Given the description of an element on the screen output the (x, y) to click on. 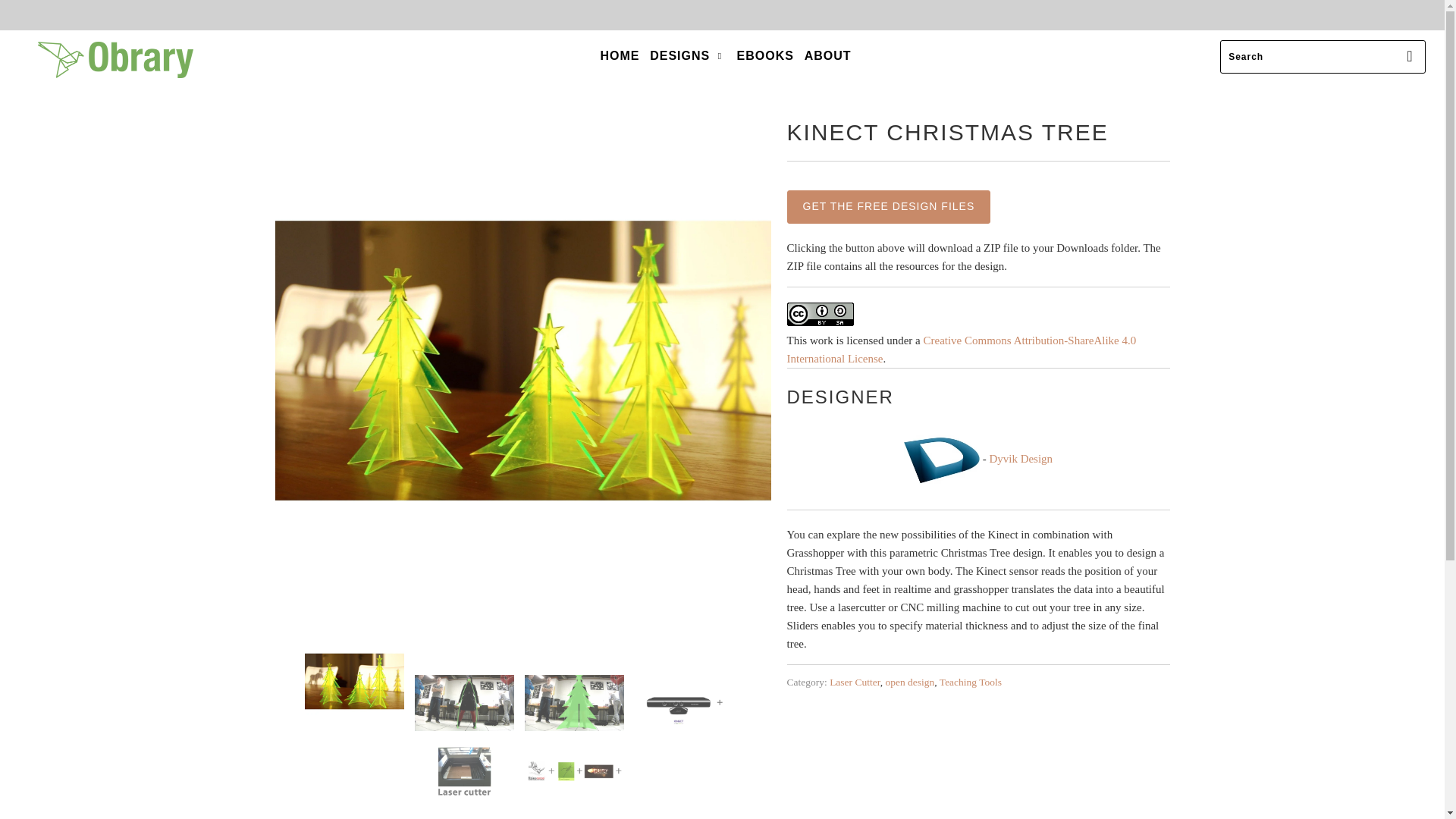
Products tagged Laser Cutter (854, 681)
DESIGNS (687, 56)
ABOUT (828, 56)
GET THE FREE DESIGN FILES (889, 205)
open design (909, 681)
HOME (619, 56)
Products tagged Teaching Tools (970, 681)
Products tagged open design (909, 681)
EBOOKS (764, 56)
